Given the description of an element on the screen output the (x, y) to click on. 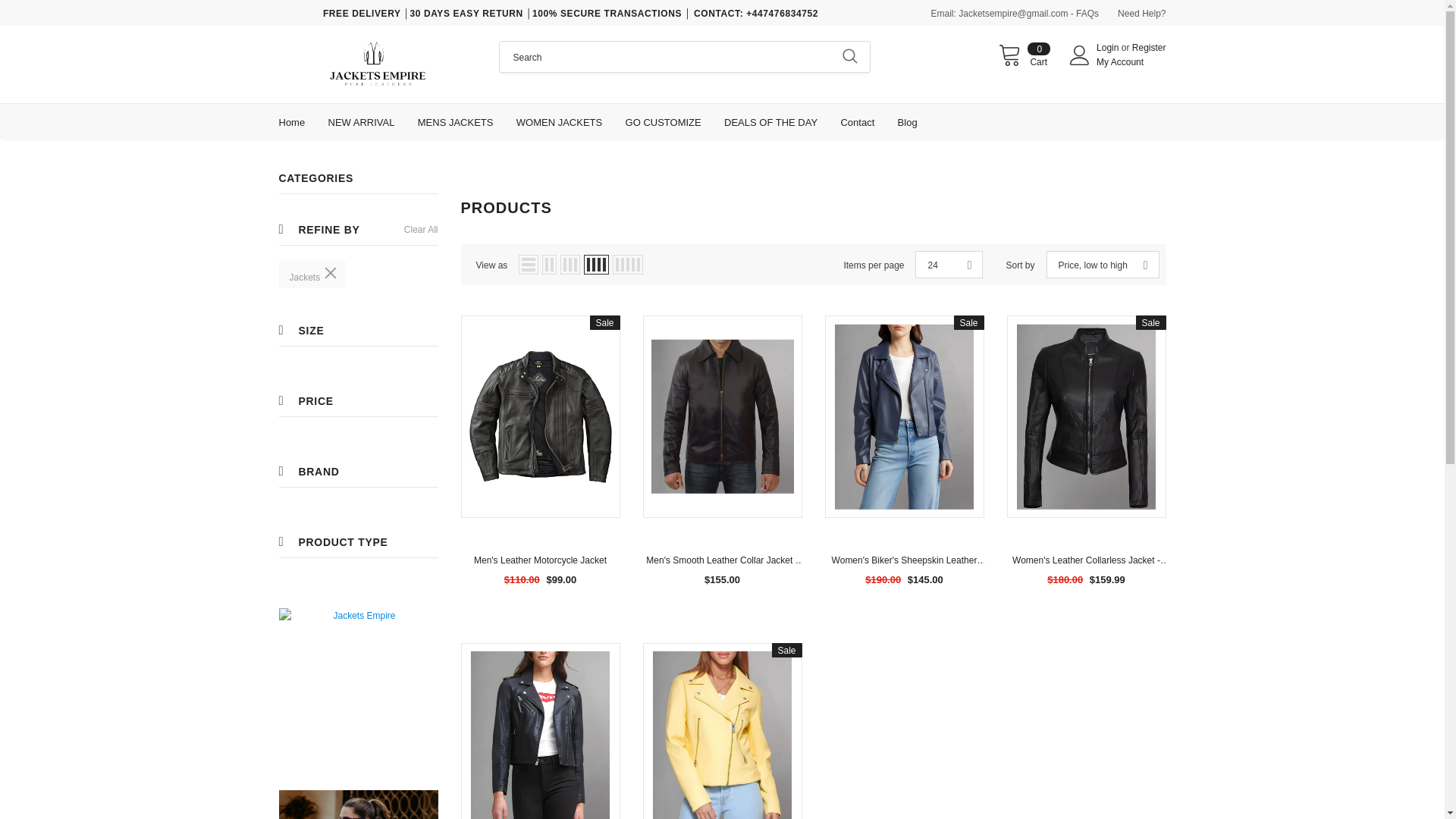
Jackets (312, 274)
MENS JACKETS (455, 121)
Logo (377, 63)
WOMEN JACKETS (559, 121)
Contact (857, 121)
NEW ARRIVAL (361, 121)
Cart (1023, 55)
Login (1023, 55)
GO CUSTOMIZE (1108, 47)
